Given the description of an element on the screen output the (x, y) to click on. 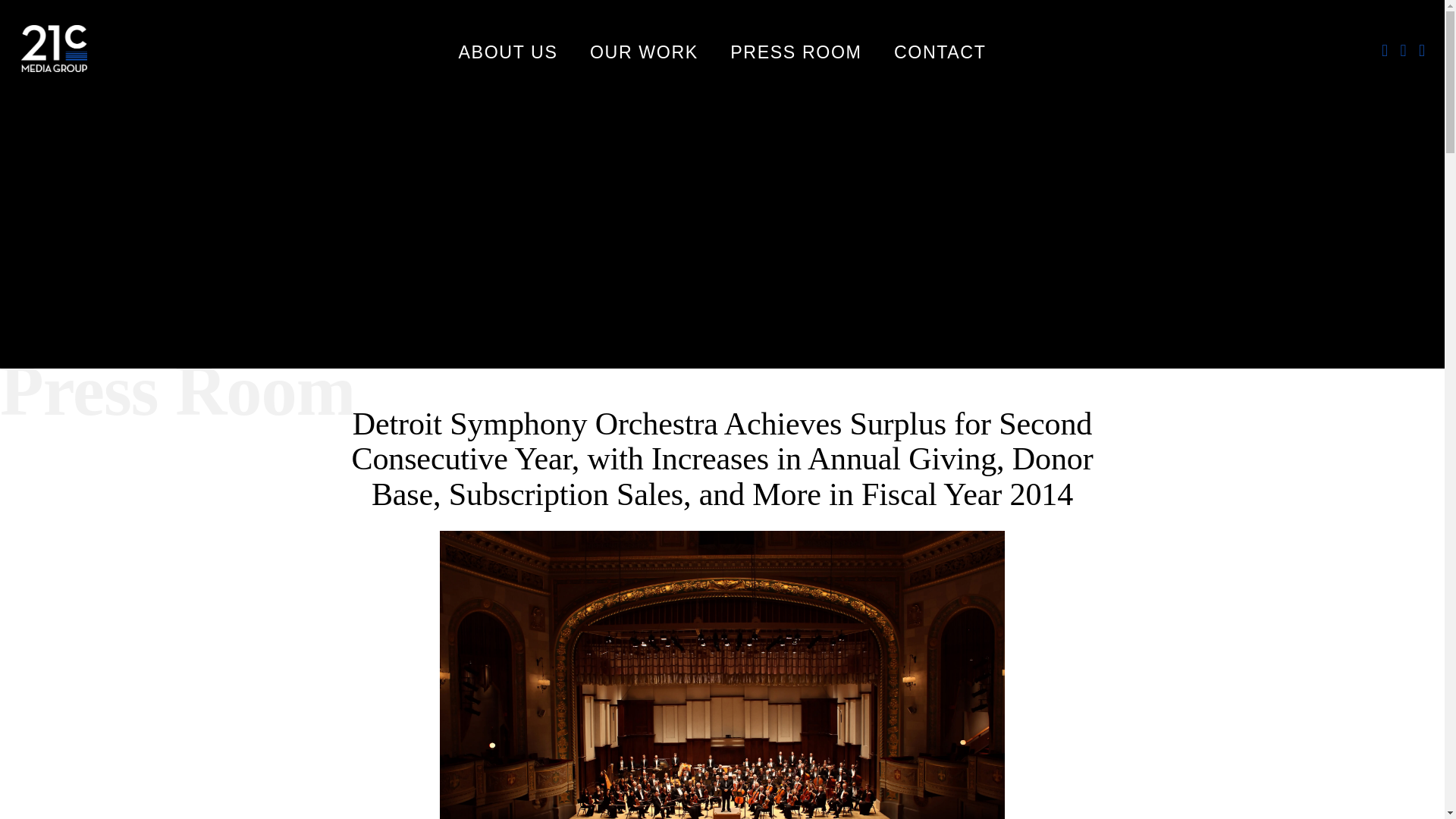
PRESS ROOM (795, 55)
OUR WORK (643, 55)
CONTACT (940, 55)
ABOUT US (507, 55)
